Given the description of an element on the screen output the (x, y) to click on. 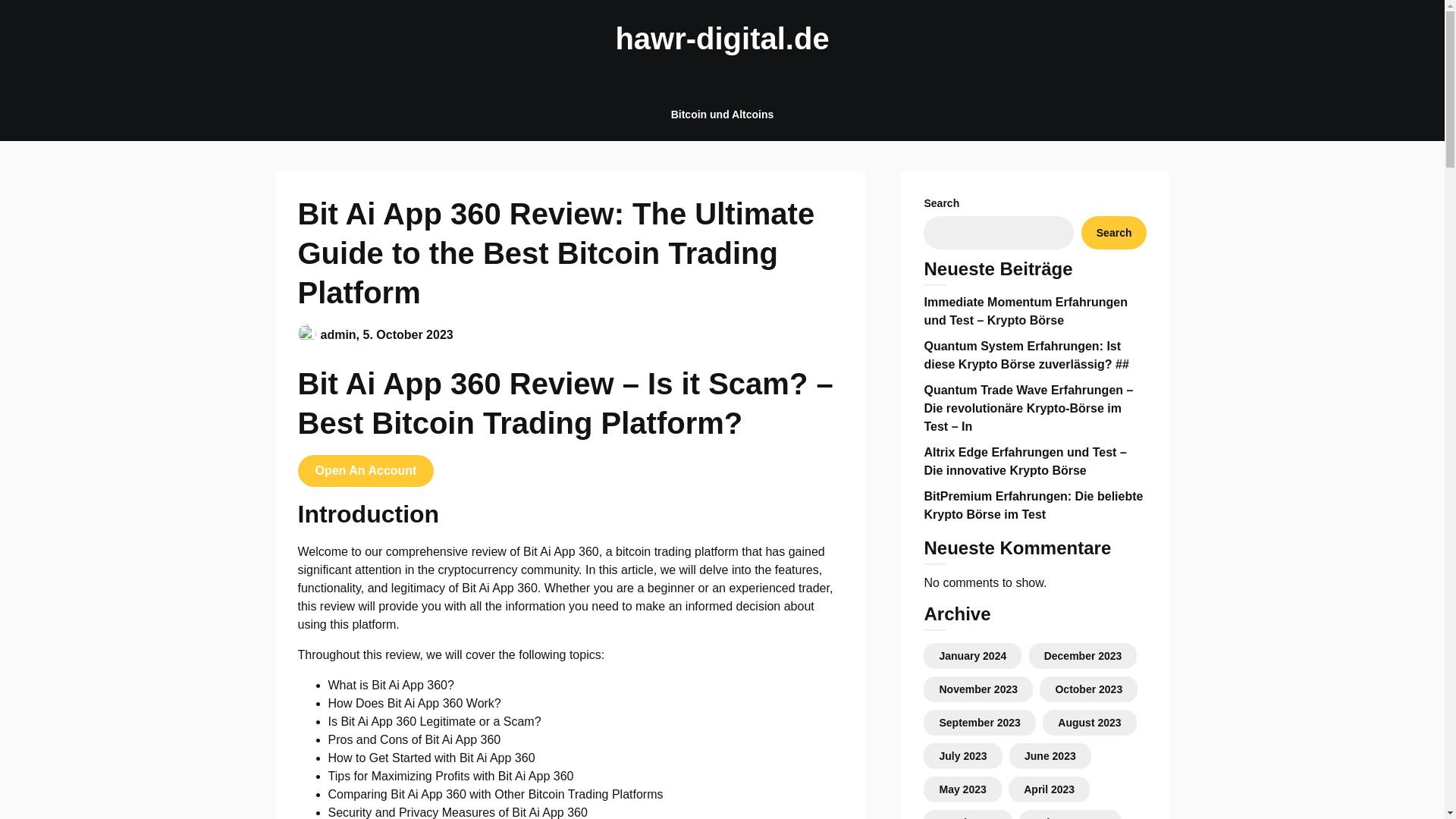
December 2023 (1082, 655)
April 2023 (1048, 788)
Open An Account (365, 470)
August 2023 (1089, 722)
November 2023 (978, 689)
September 2023 (979, 722)
Bitcoin und Altcoins (722, 114)
January 2024 (972, 655)
May 2023 (962, 788)
5. October 2023 (407, 333)
July 2023 (963, 756)
hawr-digital.de (722, 38)
Open An Account (365, 470)
June 2023 (1050, 756)
February 2023 (1069, 817)
